Given the description of an element on the screen output the (x, y) to click on. 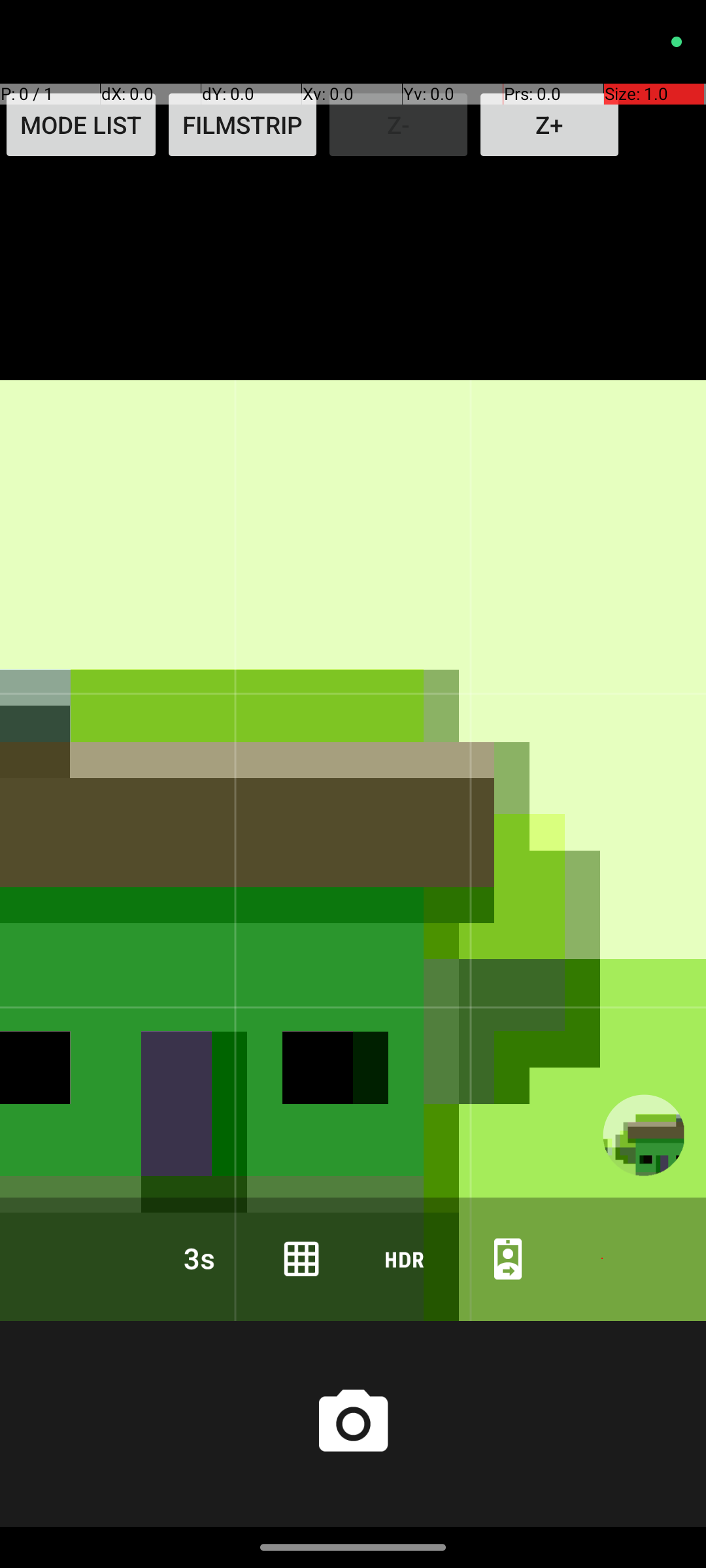
Countdown timer duration is set to 3 seconds Element type: android.widget.ImageButton (197, 1258)
Grid lines on Element type: android.widget.ImageButton (301, 1258)
HDR on Element type: android.widget.ImageButton (404, 1258)
Front camera Element type: android.widget.ImageButton (507, 1258)
